Given the description of an element on the screen output the (x, y) to click on. 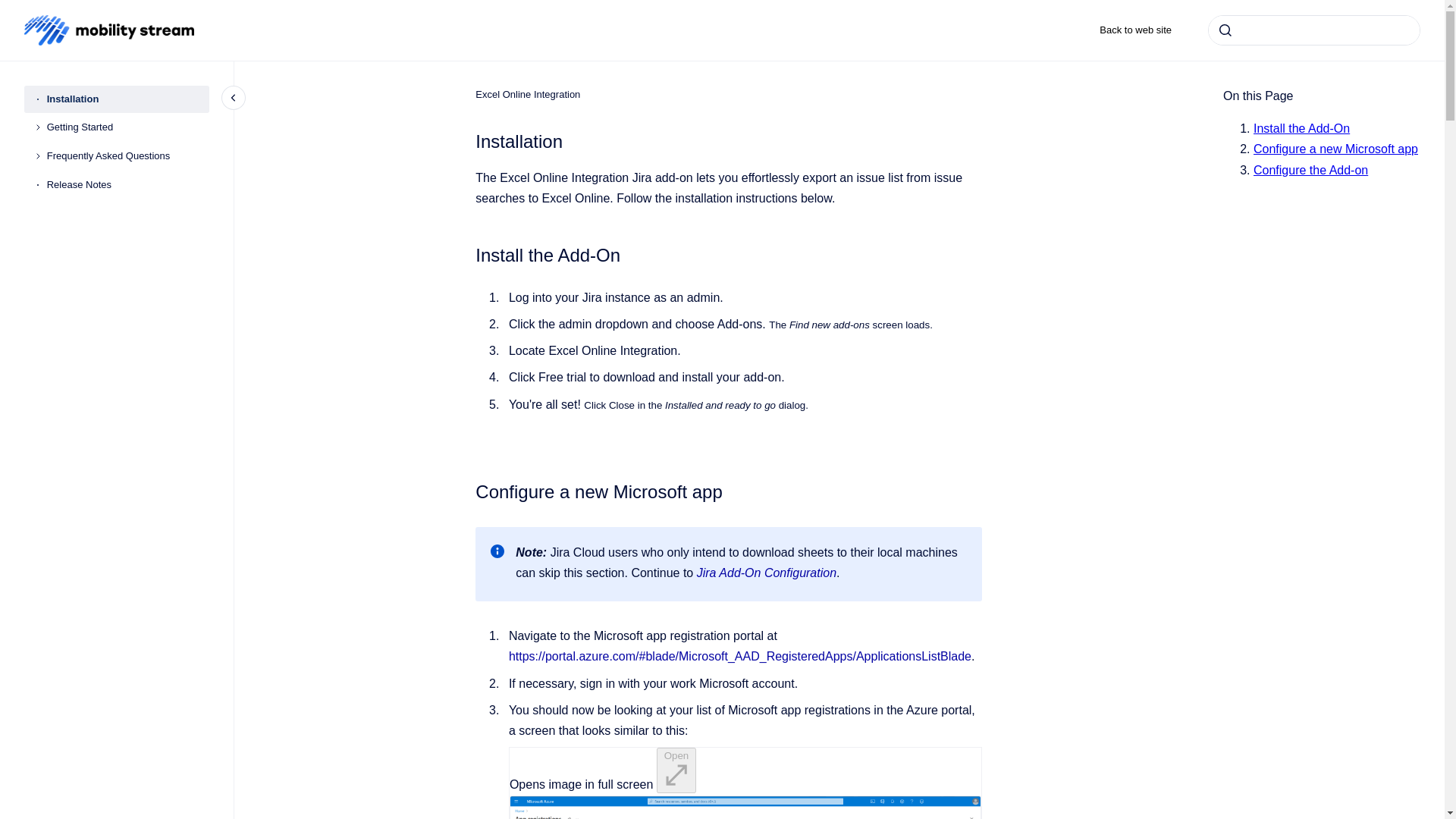
Go to homepage (108, 30)
Jira Add-On Configuration (766, 572)
Release Notes (127, 185)
Getting Started (127, 127)
Installation (127, 99)
Back to web site (1135, 29)
Excel Online Integration (527, 94)
Frequently Asked Questions (127, 155)
